Given the description of an element on the screen output the (x, y) to click on. 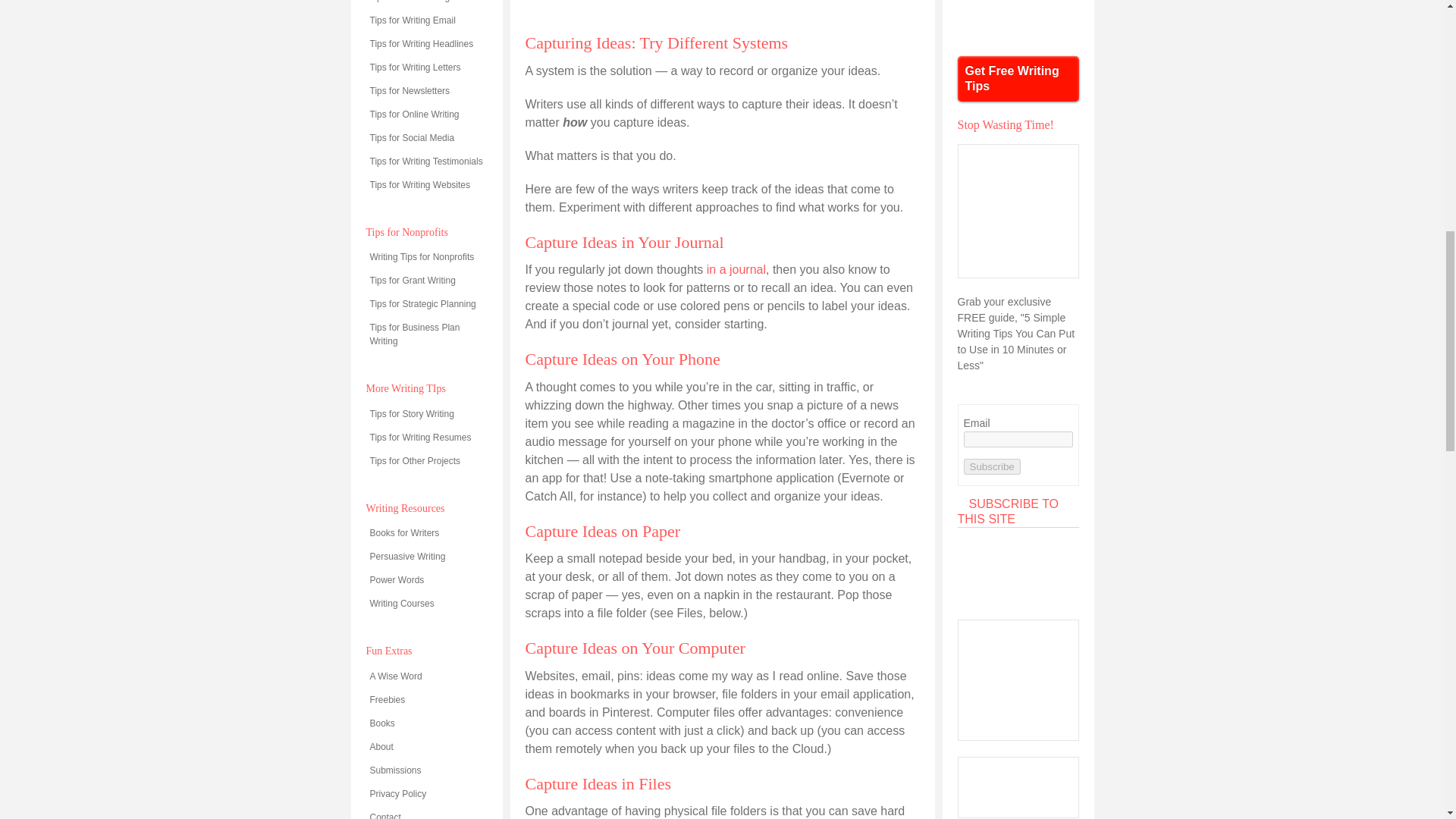
in a journal (735, 269)
nonprofit-courses-content-expert-logo-round (1017, 20)
Capturing ideas with Word Wise at Nonprofit Copywriter (722, 11)
Capturing ideas with Word Wise at Nonprofit Copywriter (722, 7)
